Given the description of an element on the screen output the (x, y) to click on. 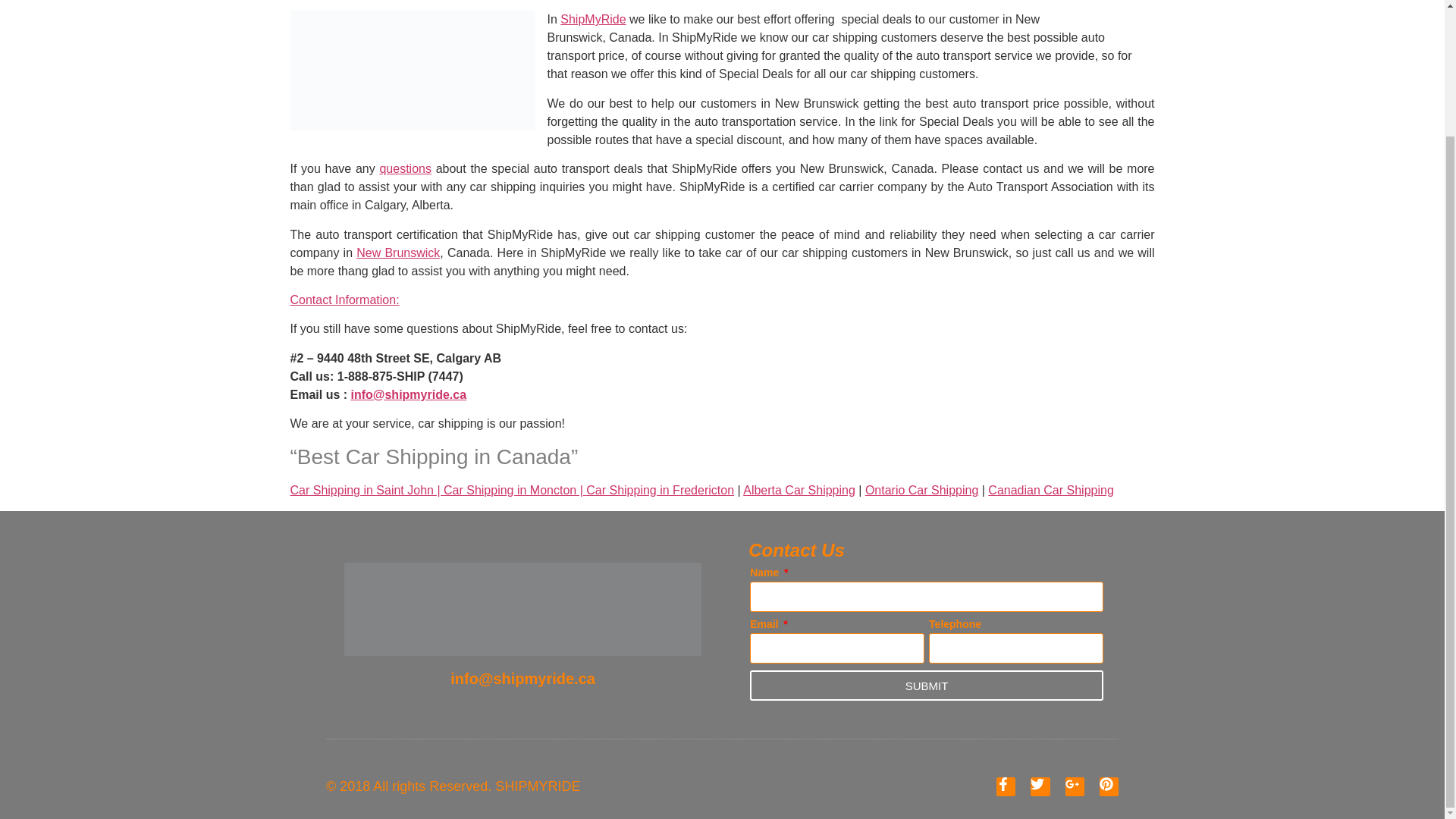
Start with Car Shipping Service in Alberta Canada (799, 490)
FAQ (404, 168)
Home (1050, 490)
Car Shipping in Toronto Ontario Canada (921, 490)
